Given the description of an element on the screen output the (x, y) to click on. 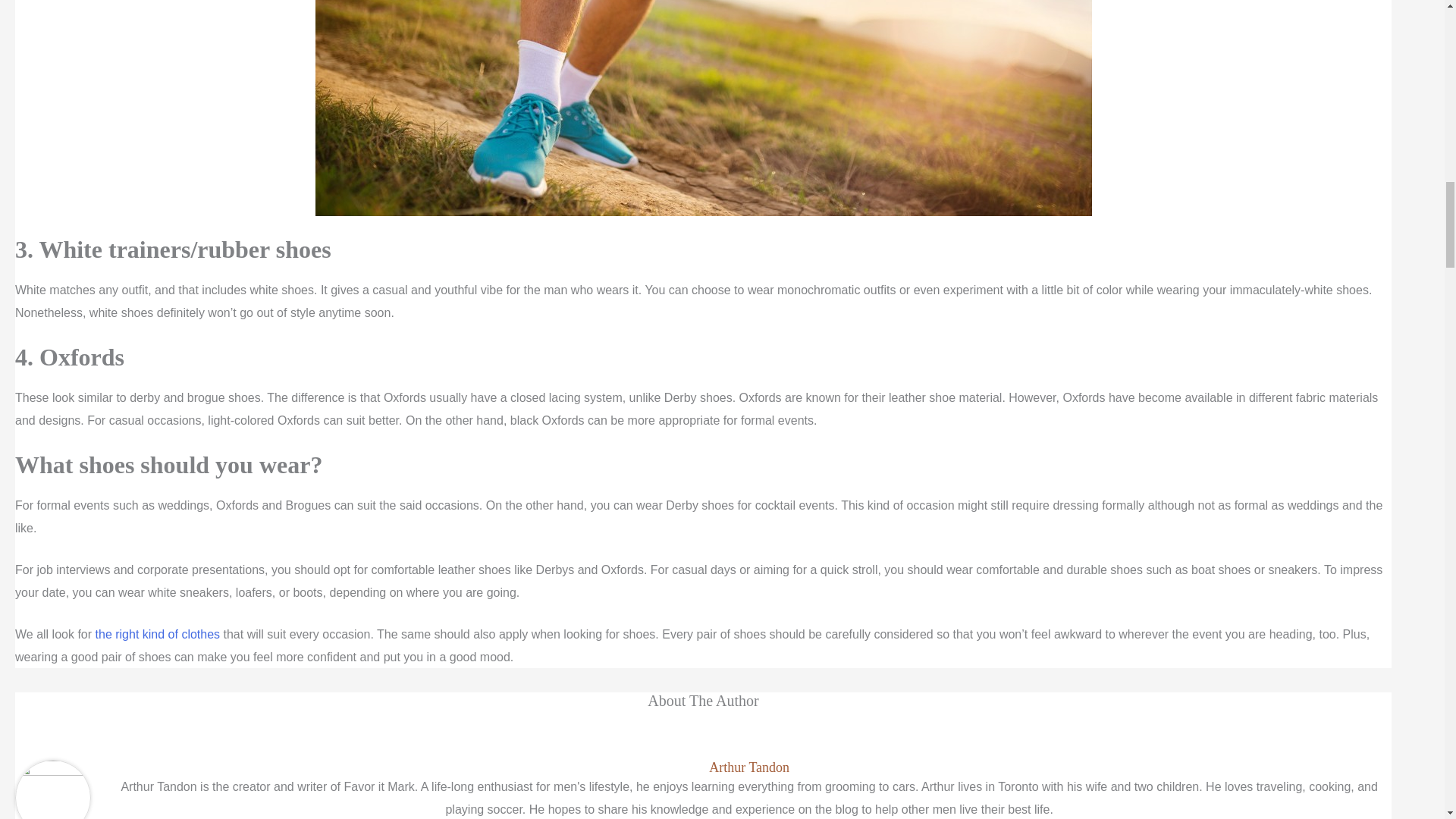
Medium (158, 634)
Arthur Tandon (748, 767)
the right kind of clothes (158, 634)
